Given the description of an element on the screen output the (x, y) to click on. 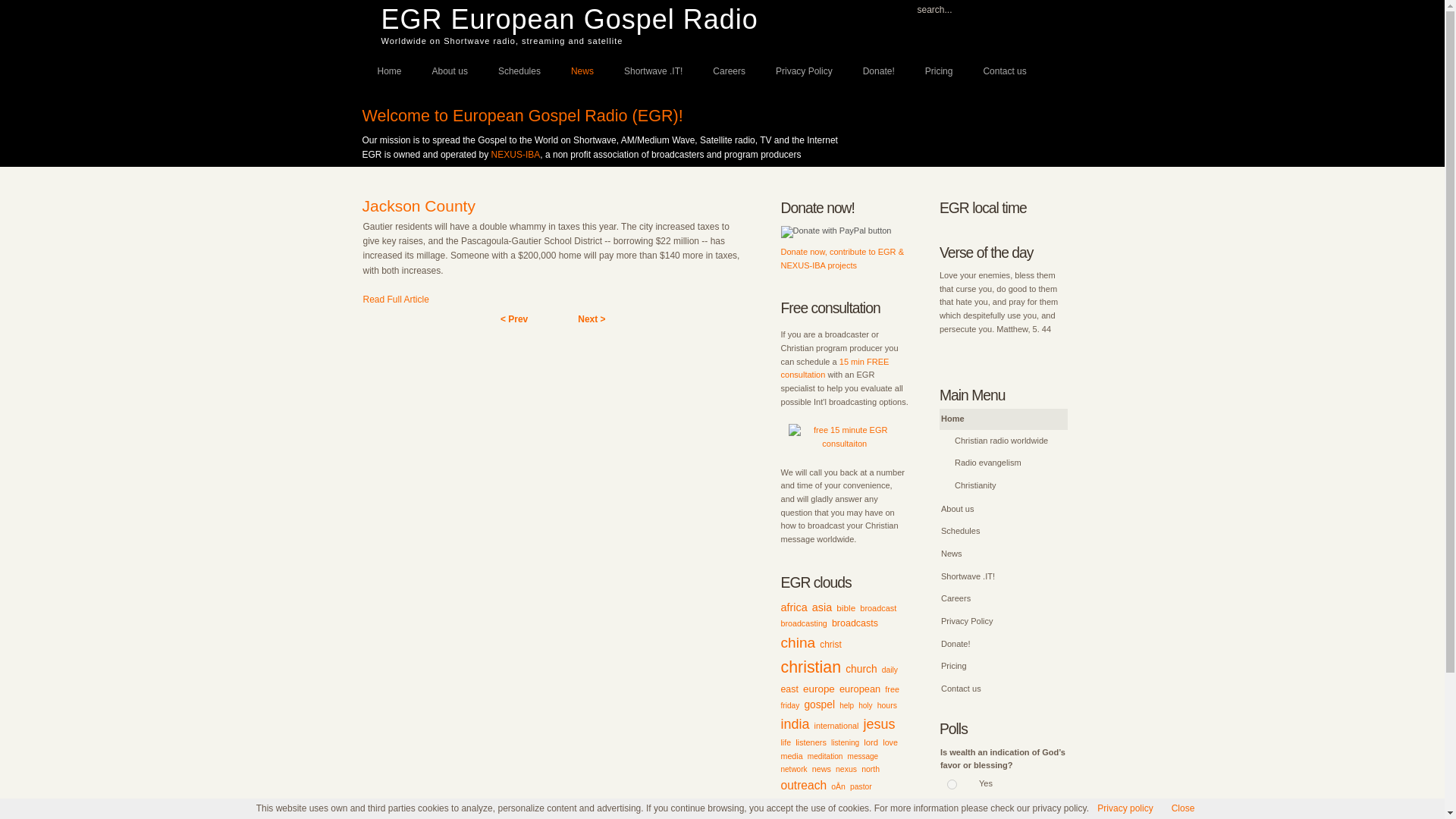
bible (845, 607)
About us (449, 69)
Careers (728, 69)
Schedules (519, 69)
Read Full Article (395, 299)
broadcasts (854, 623)
NEXUS-IBA (516, 154)
EGR European Gospel Radio (568, 20)
Donate! (878, 69)
